Given the description of an element on the screen output the (x, y) to click on. 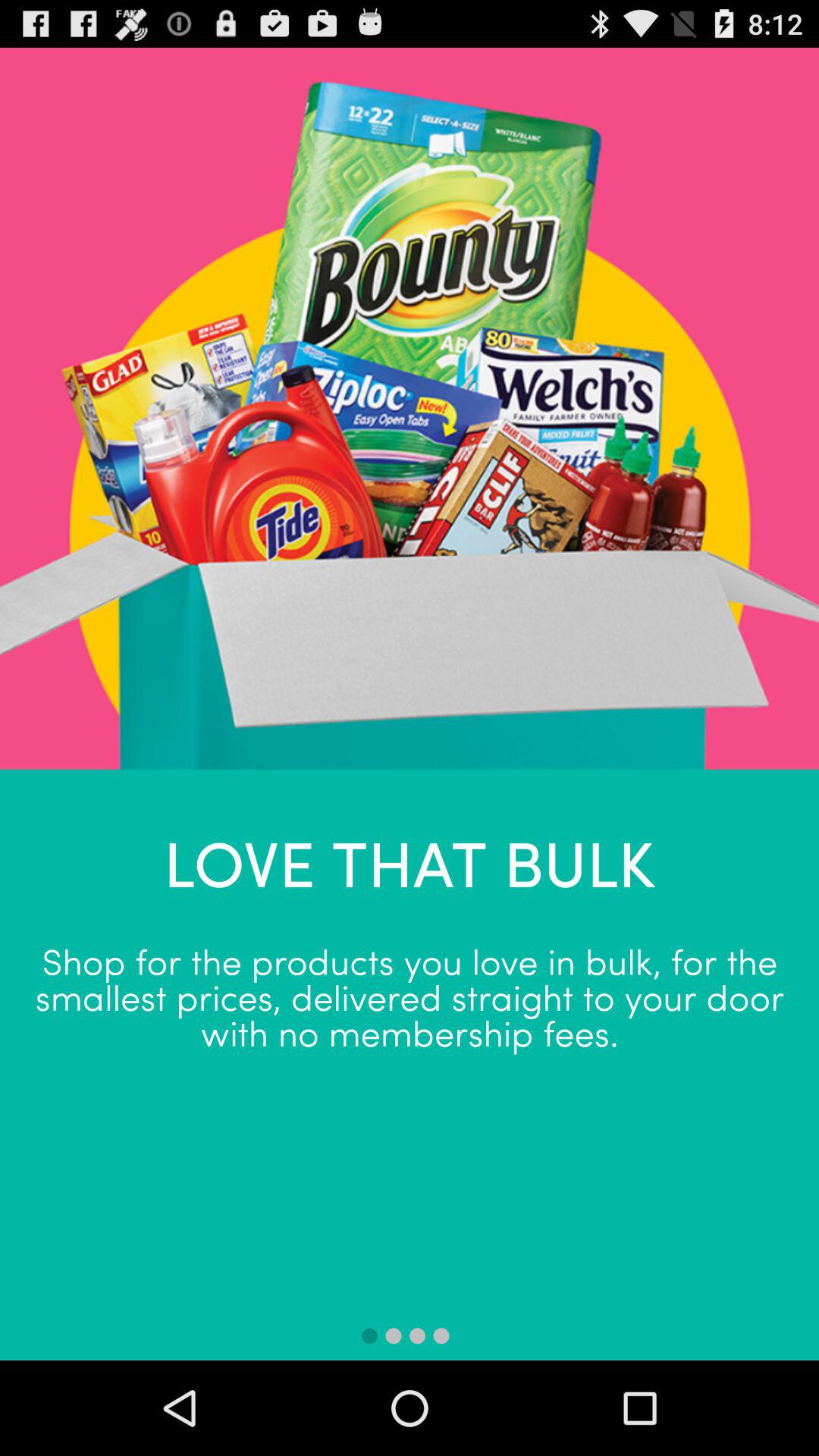
scroll until shop for the item (409, 995)
